Given the description of an element on the screen output the (x, y) to click on. 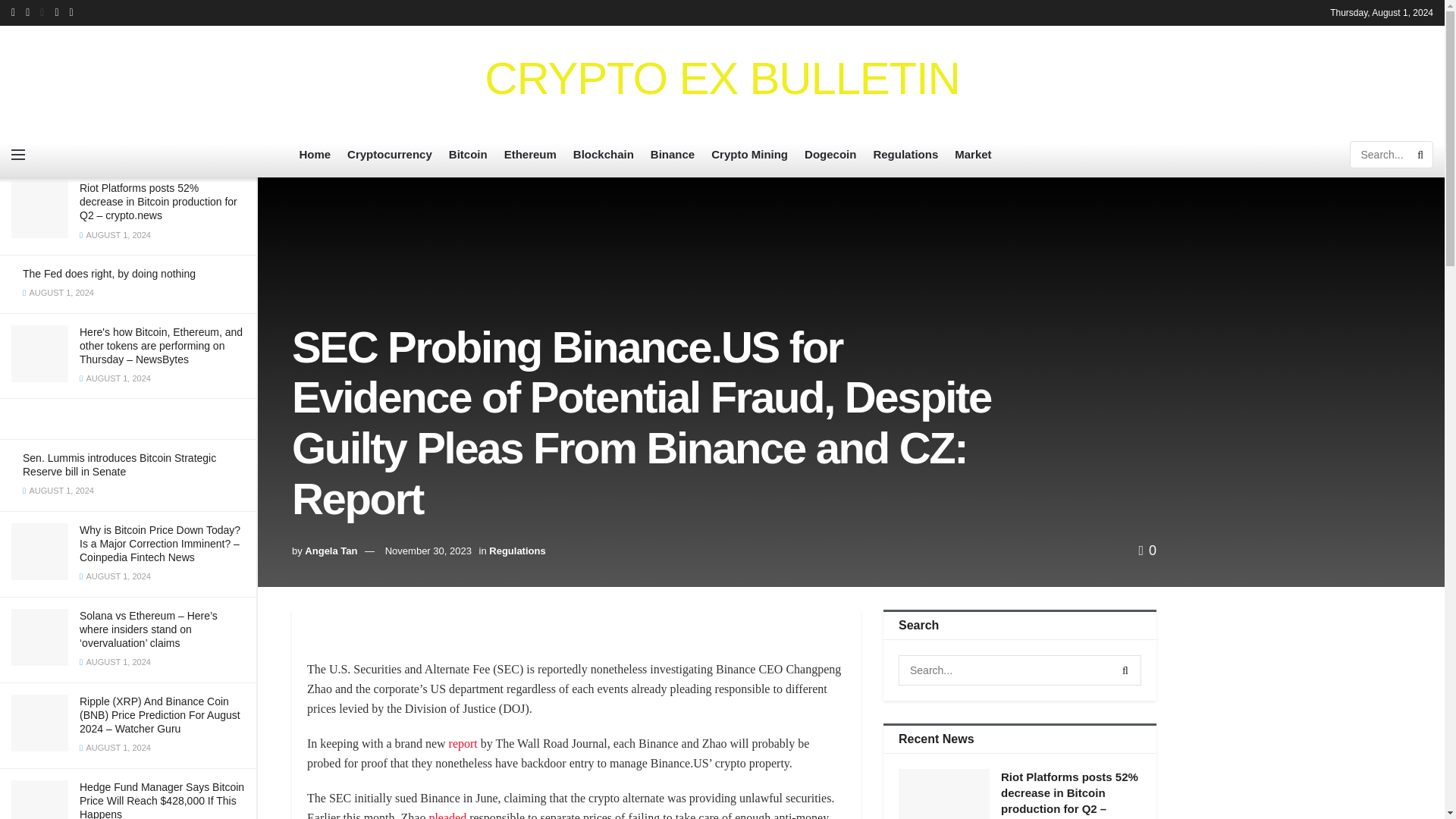
Blockchain (603, 154)
The Fed does right, by doing nothing (109, 273)
Ethereum (529, 154)
CRYPTO EX BULLETIN (721, 78)
Cryptocurrency (389, 154)
